Given the description of an element on the screen output the (x, y) to click on. 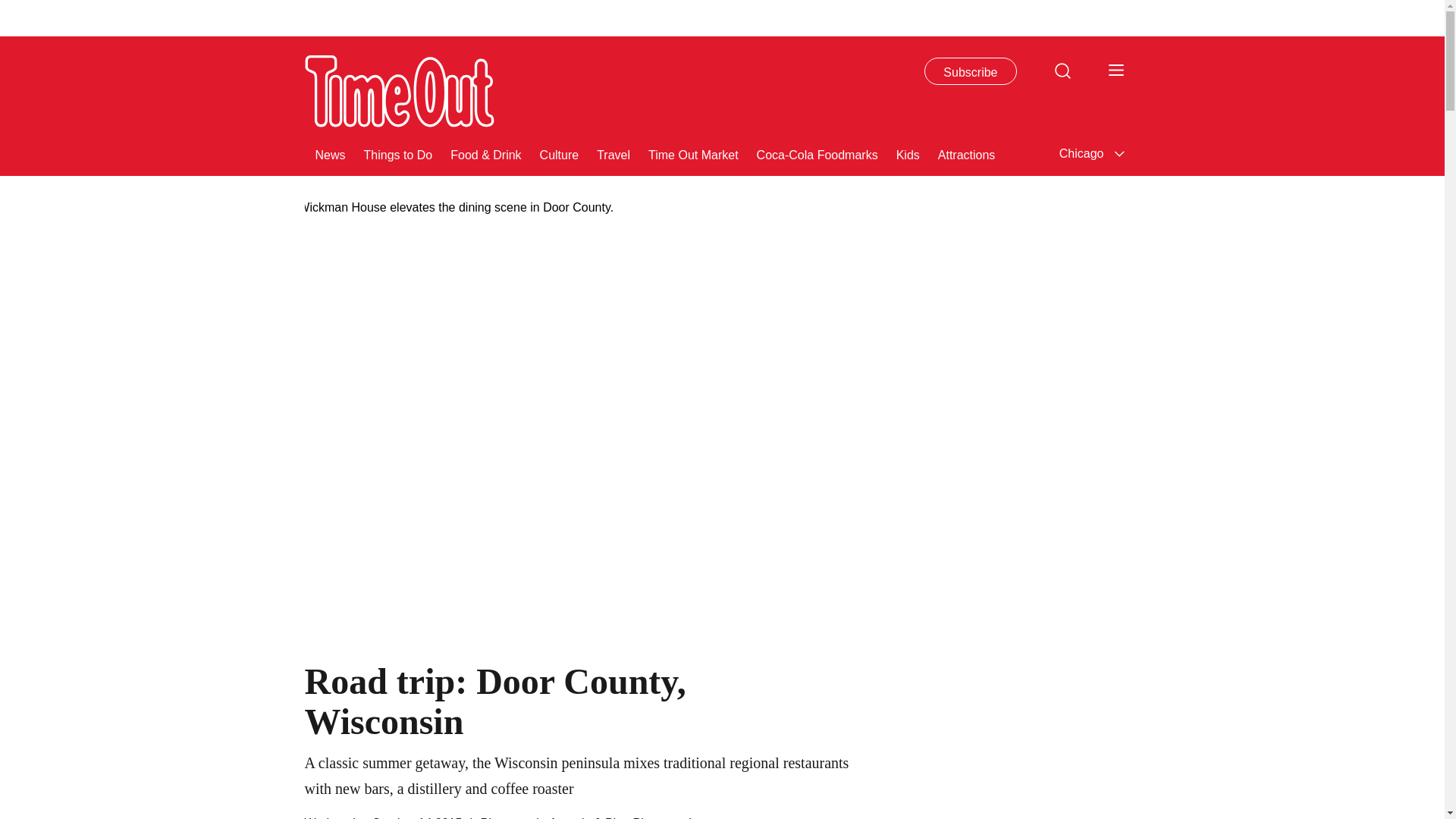
Time Out Market (692, 153)
News (330, 153)
Subscribe (970, 71)
Culture (559, 153)
Coca-Cola Foodmarks (817, 153)
Travel (613, 153)
Go to the content (10, 7)
Attractions (966, 153)
Museums (1039, 153)
Search (1061, 69)
Hotels (1101, 153)
Things to Do (397, 153)
